Given the description of an element on the screen output the (x, y) to click on. 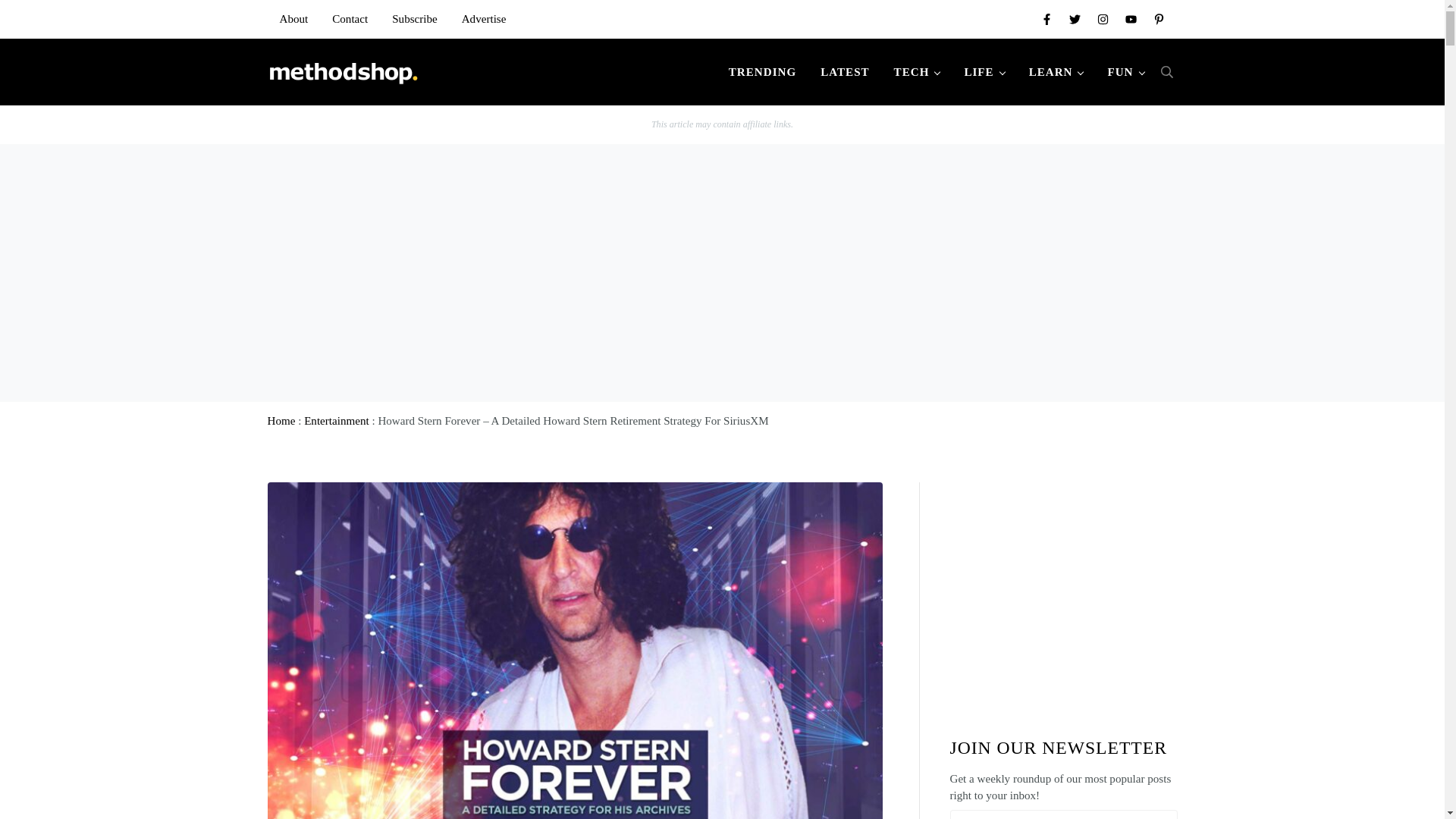
TRENDING (762, 71)
LIFE (984, 71)
Advertise (483, 18)
Subscribe (414, 18)
Contact (350, 18)
TECH (917, 71)
LEARN (1056, 71)
About (293, 18)
LATEST (844, 71)
